Given the description of an element on the screen output the (x, y) to click on. 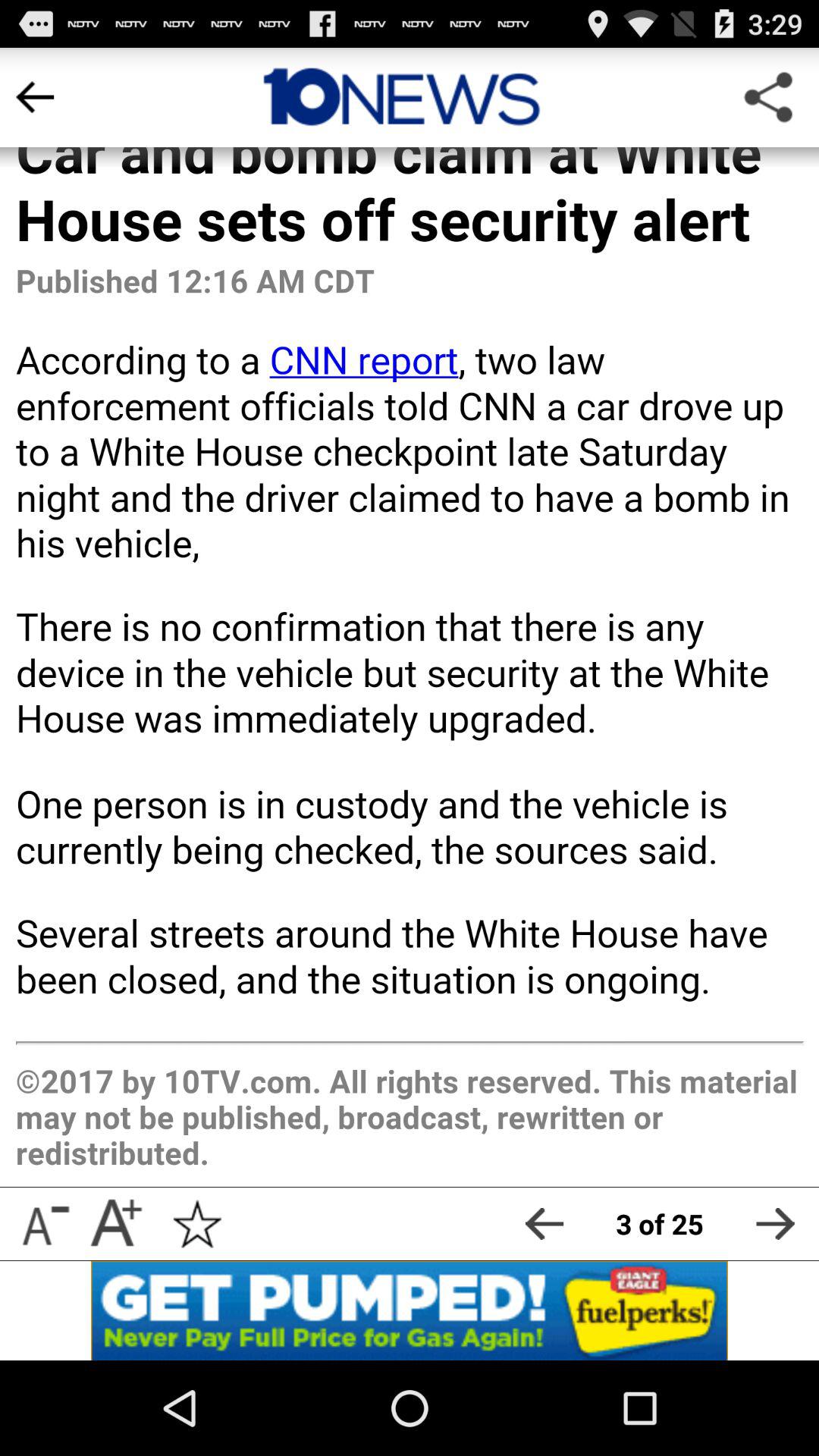
view advertisement (409, 1310)
